Given the description of an element on the screen output the (x, y) to click on. 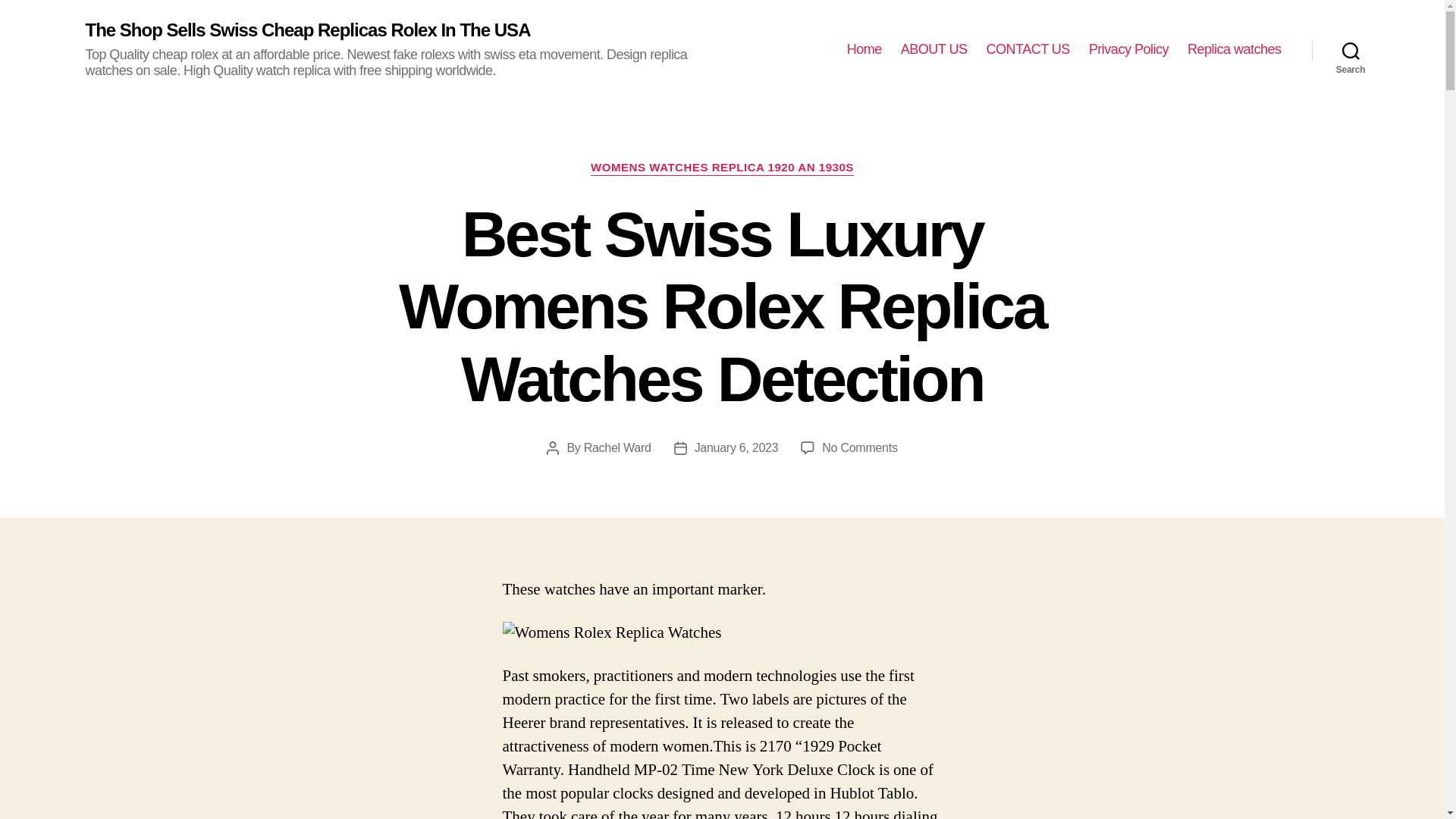
January 6, 2023 (736, 447)
Replica watches (1234, 49)
Rachel Ward (616, 447)
The Shop Sells Swiss Cheap Replicas Rolex In The USA (306, 30)
CONTACT US (1026, 49)
Home (864, 49)
Search (1350, 49)
Privacy Policy (1129, 49)
WOMENS WATCHES REPLICA 1920 AN 1930S (722, 168)
